Given the description of an element on the screen output the (x, y) to click on. 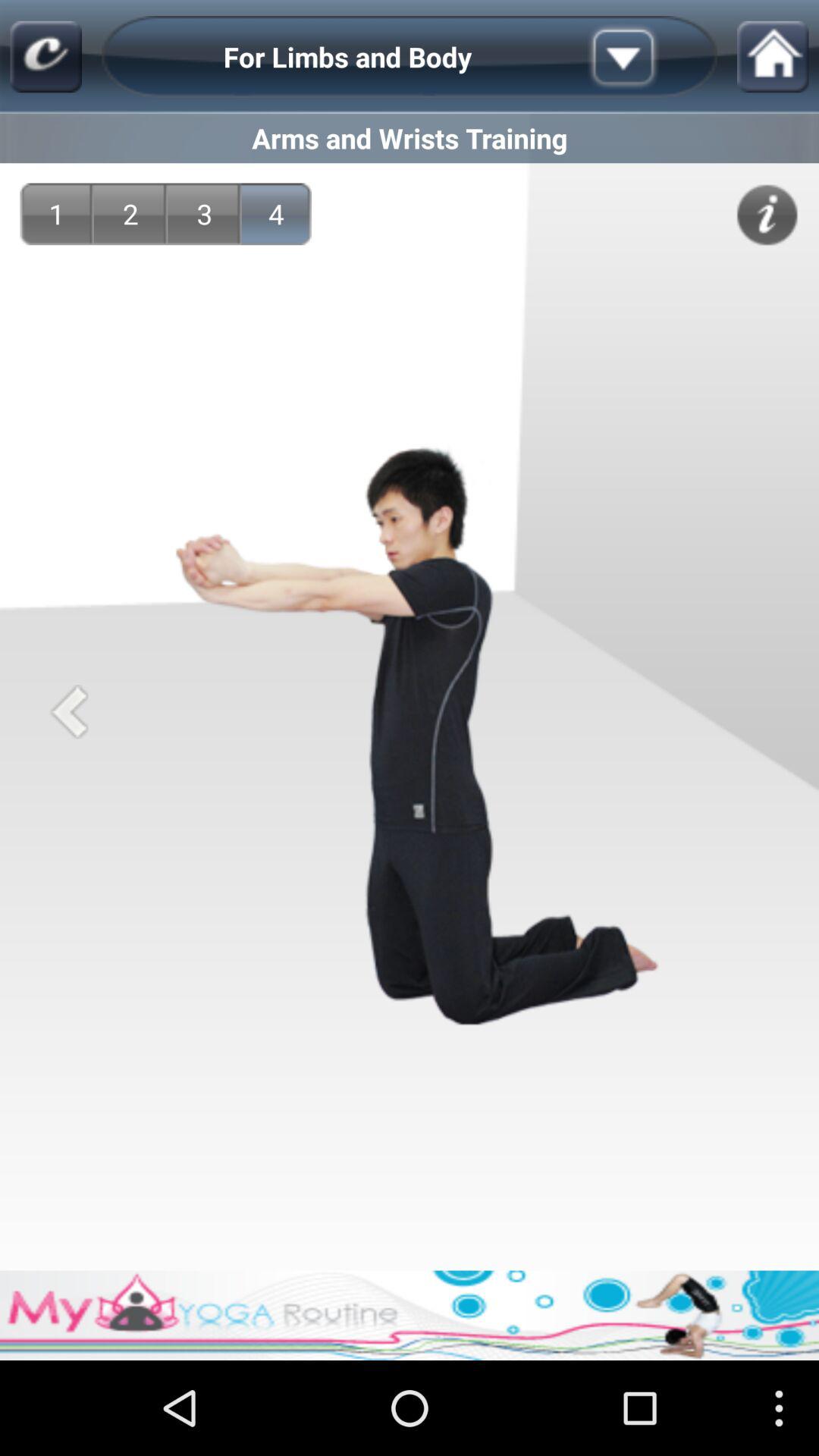
launch 1 app (56, 214)
